Given the description of an element on the screen output the (x, y) to click on. 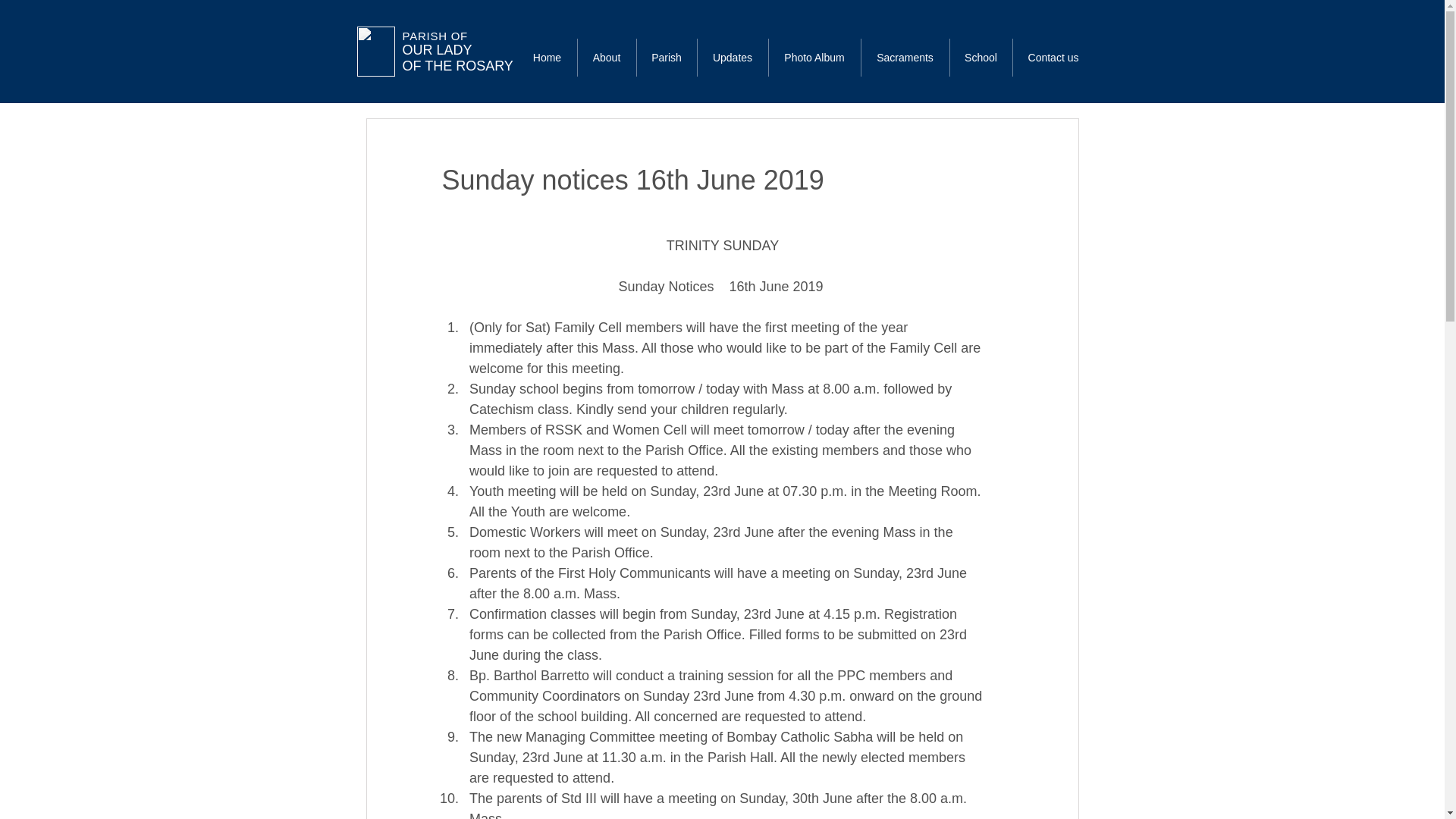
Contact us (1053, 57)
Photo Album (456, 50)
Home (814, 57)
Sacraments (546, 57)
School (905, 57)
